Given the description of an element on the screen output the (x, y) to click on. 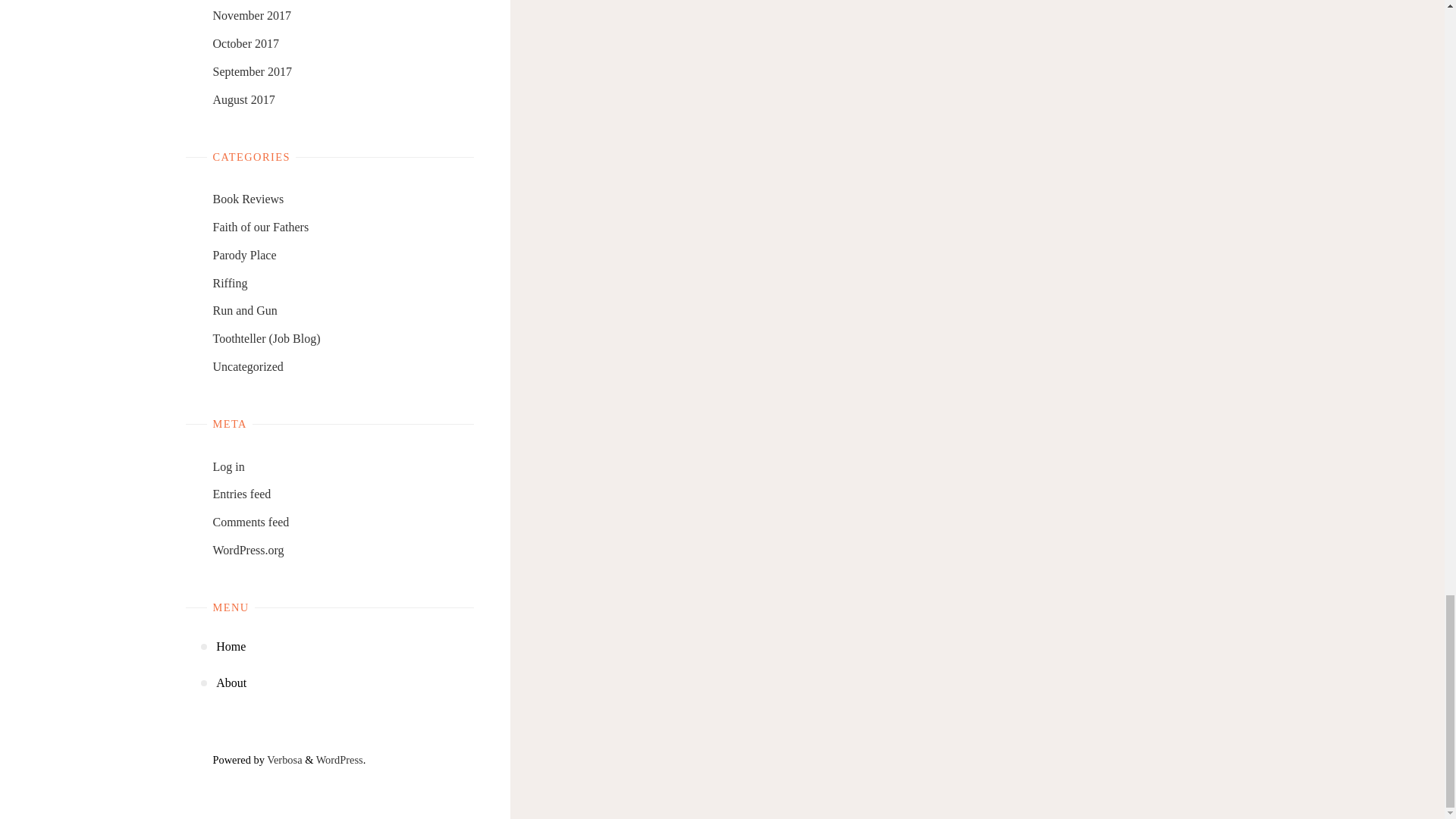
Verbosa WordPress Theme by Cryout Creations (283, 759)
Semantic Personal Publishing Platform (338, 759)
